Given the description of an element on the screen output the (x, y) to click on. 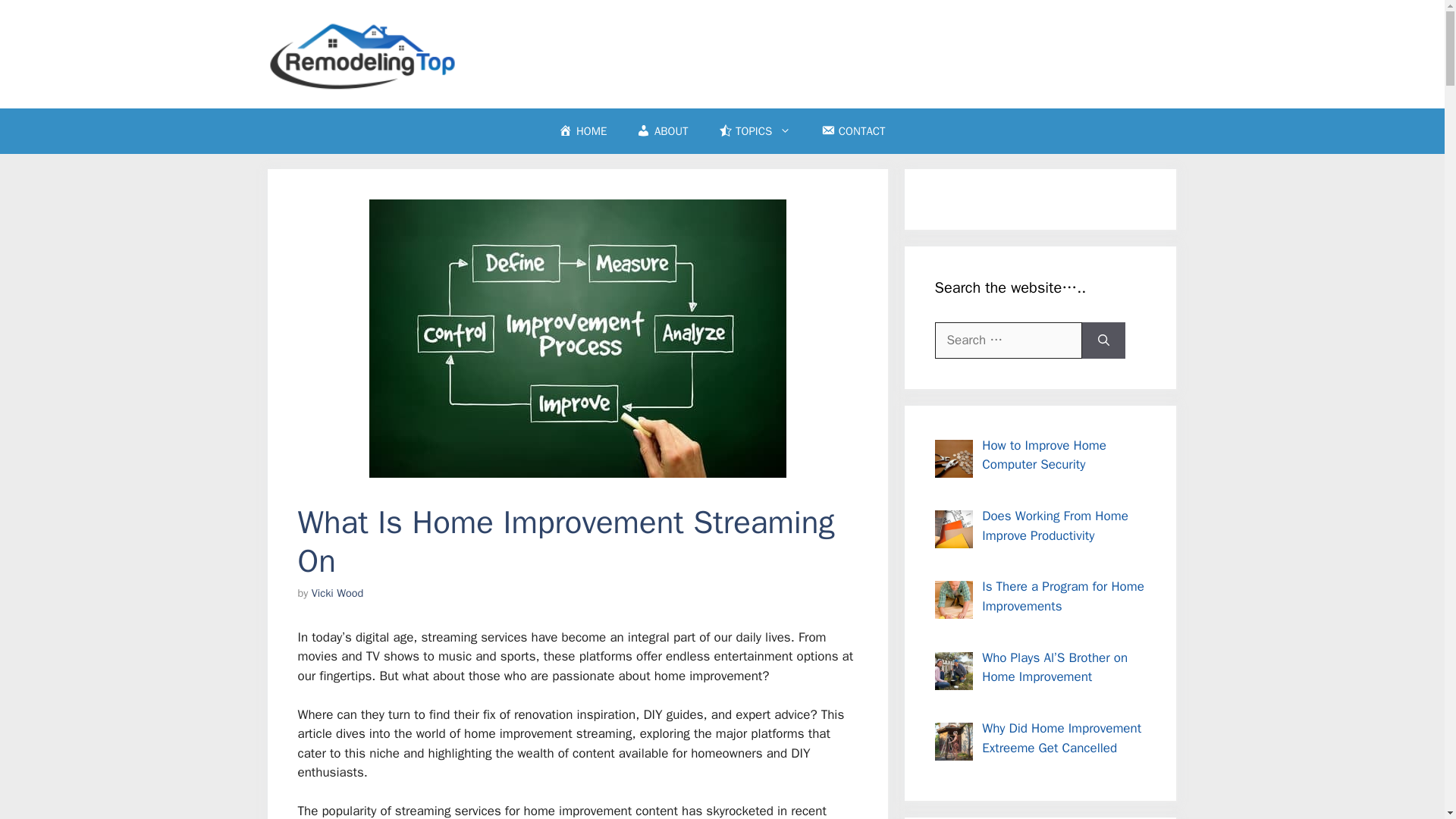
HOME (582, 130)
View all posts by Vicki Wood (337, 592)
CONTACT (852, 130)
Vicki Wood (337, 592)
What Is Home Improvement Streaming On 1 (577, 338)
ABOUT (662, 130)
TOPICS (754, 130)
